Given the description of an element on the screen output the (x, y) to click on. 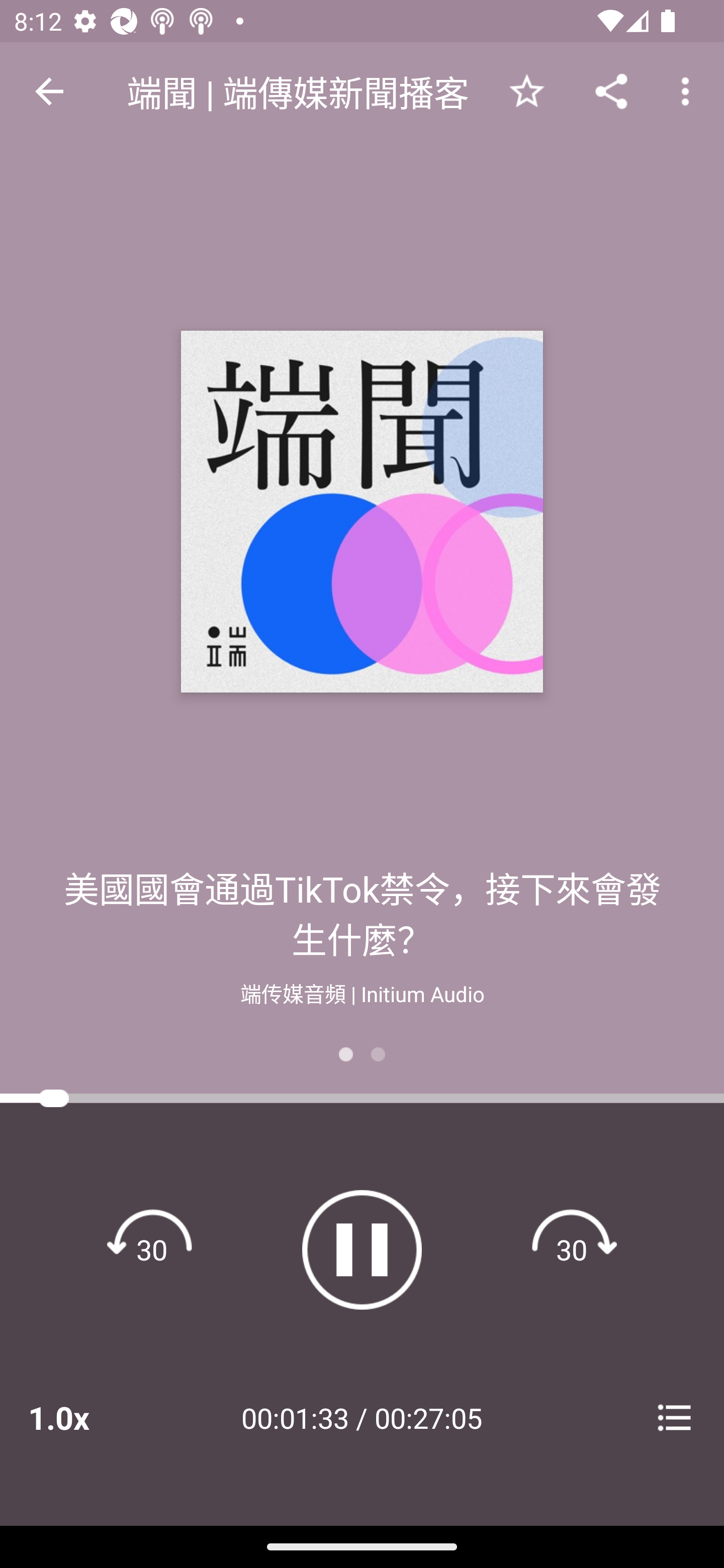
Navigate up (49, 91)
Add to Favorites (526, 90)
Share... (611, 90)
More options (688, 90)
端传媒音頻 | Initium Audio (361, 992)
Pause (361, 1249)
Rewind (151, 1249)
Fast forward (571, 1249)
1.0x Playback Speeds (84, 1417)
00:27:05 (428, 1417)
